Given the description of an element on the screen output the (x, y) to click on. 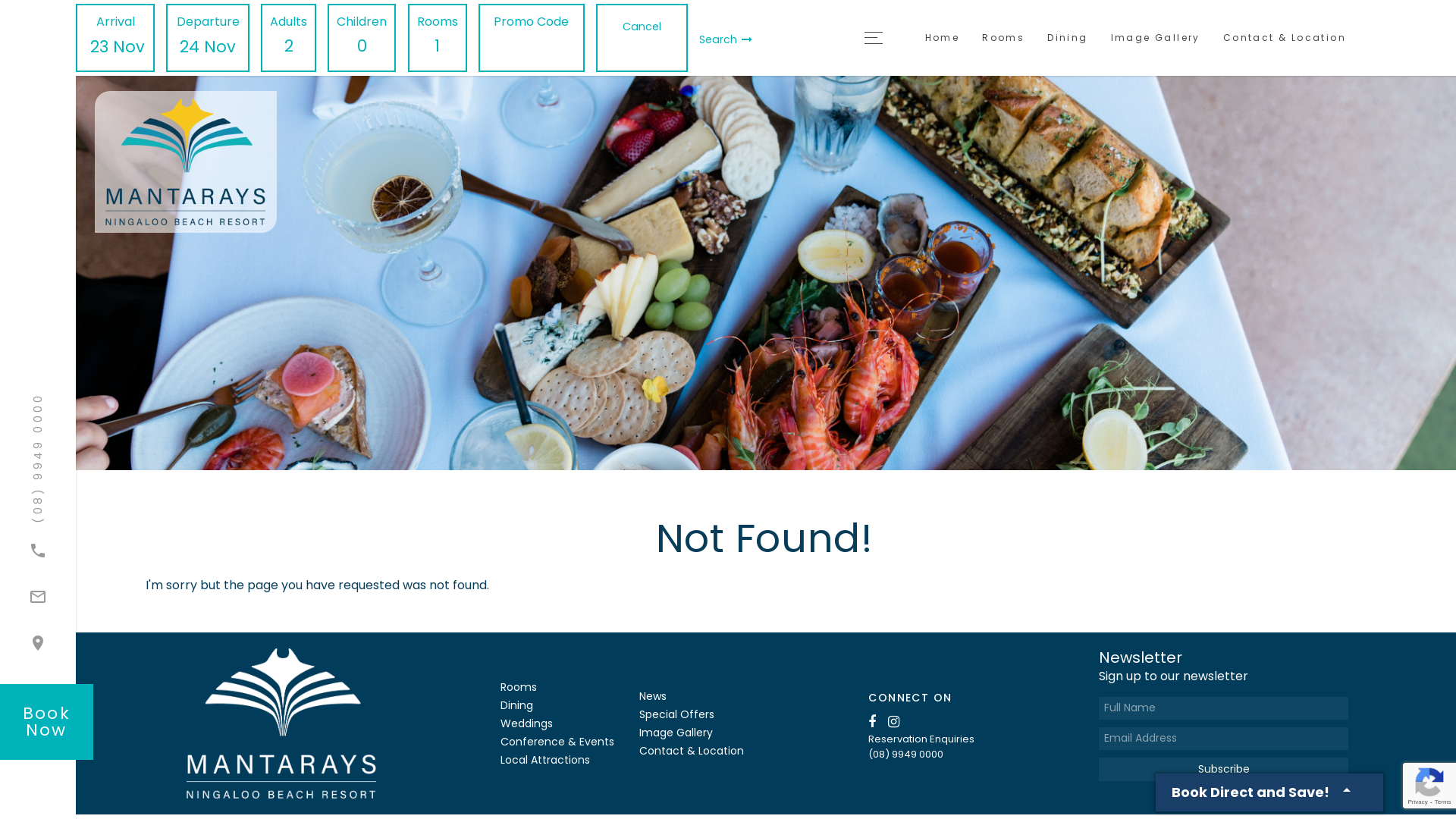
Dining Element type: text (516, 704)
News Element type: text (652, 695)
logo Element type: hover (281, 722)
Local Attractions Element type: text (544, 759)
Mantarays Ningaloo Beach Resort Element type: hover (246, 161)
(08) 9949 0000 Element type: text (921, 753)
Cancel Element type: text (641, 26)
Special Offers Element type: text (676, 713)
Subscribe Element type: text (1222, 768)
Image Gallery Element type: text (675, 732)
Image Gallery Element type: text (1155, 37)
Book Now Element type: text (46, 721)
Contact & Location Element type: text (691, 750)
Rooms Element type: text (1002, 37)
Conference & Events Element type: text (557, 741)
Home Element type: text (942, 37)
Rooms Element type: text (518, 686)
Weddings Element type: text (526, 723)
Search Element type: text (725, 38)
Dining Element type: text (1066, 37)
Contact & Location Element type: text (1284, 37)
